Given the description of an element on the screen output the (x, y) to click on. 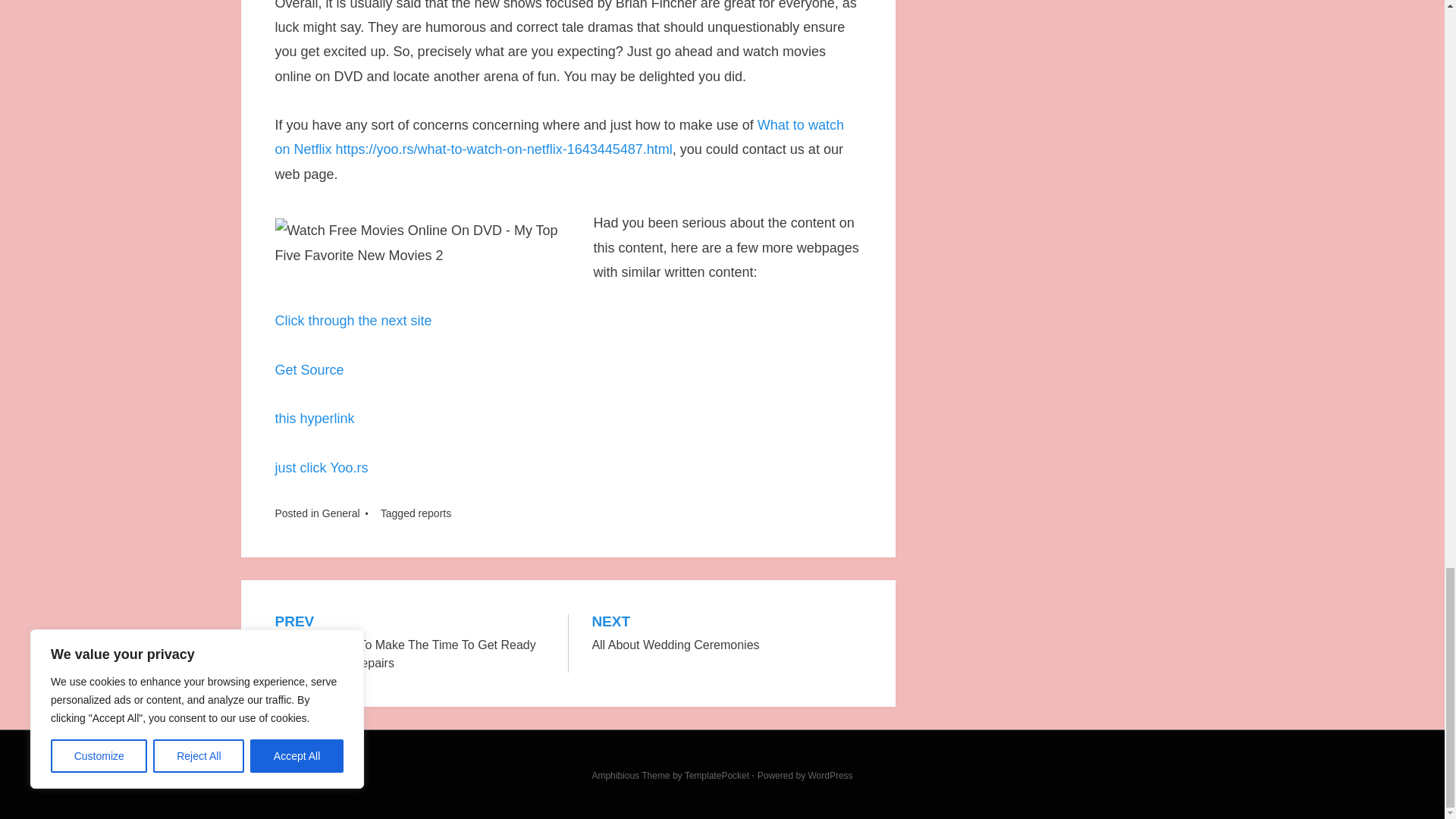
reports (726, 634)
TemplatePocket (435, 512)
Click through the next site (716, 775)
WordPress (352, 320)
Get Source (829, 775)
General (309, 369)
this hyperlink (340, 512)
just click Yoo.rs (314, 418)
